Given the description of an element on the screen output the (x, y) to click on. 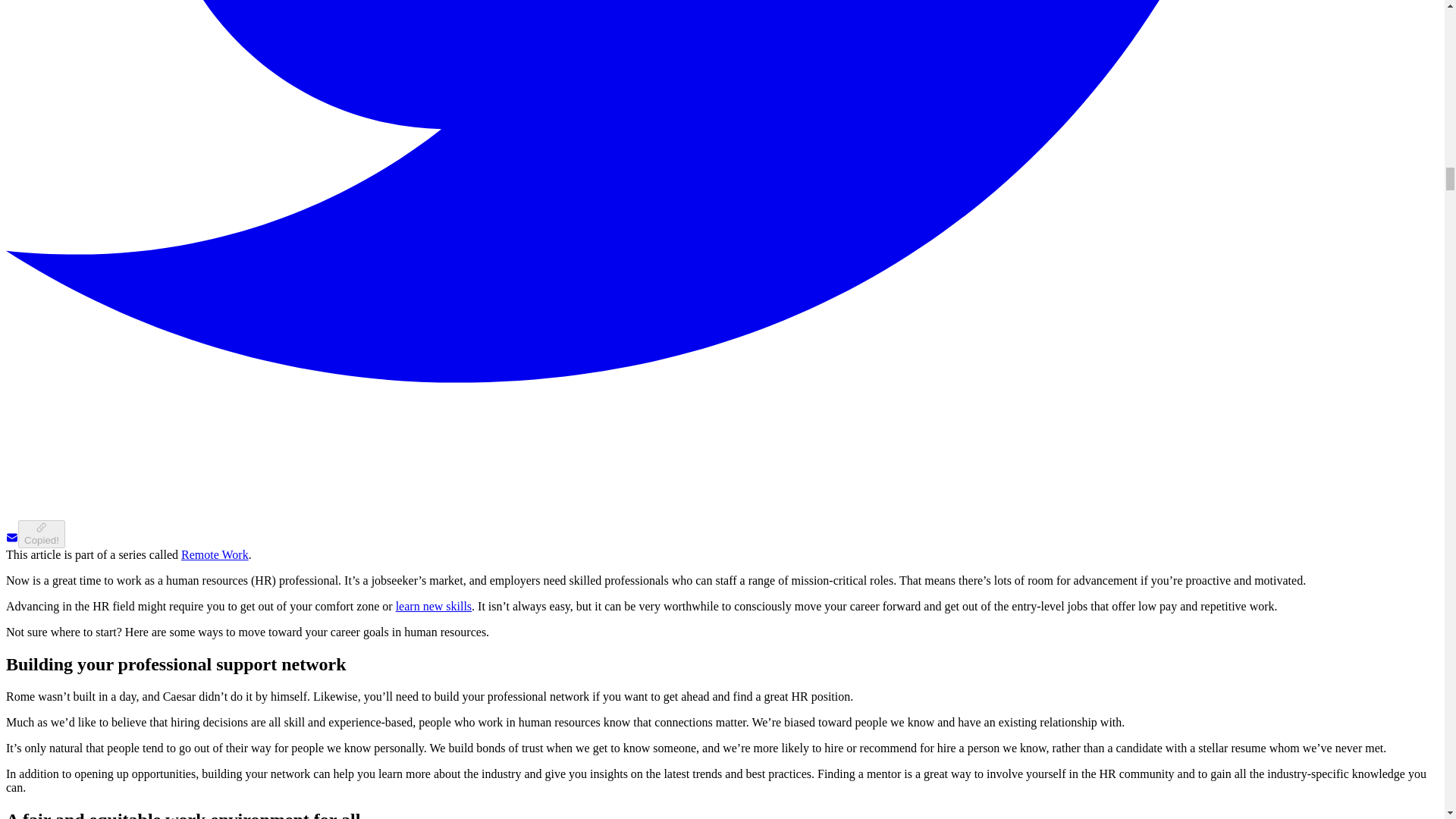
Remote Work (214, 554)
Copied! (41, 533)
learn new skills (433, 605)
